Given the description of an element on the screen output the (x, y) to click on. 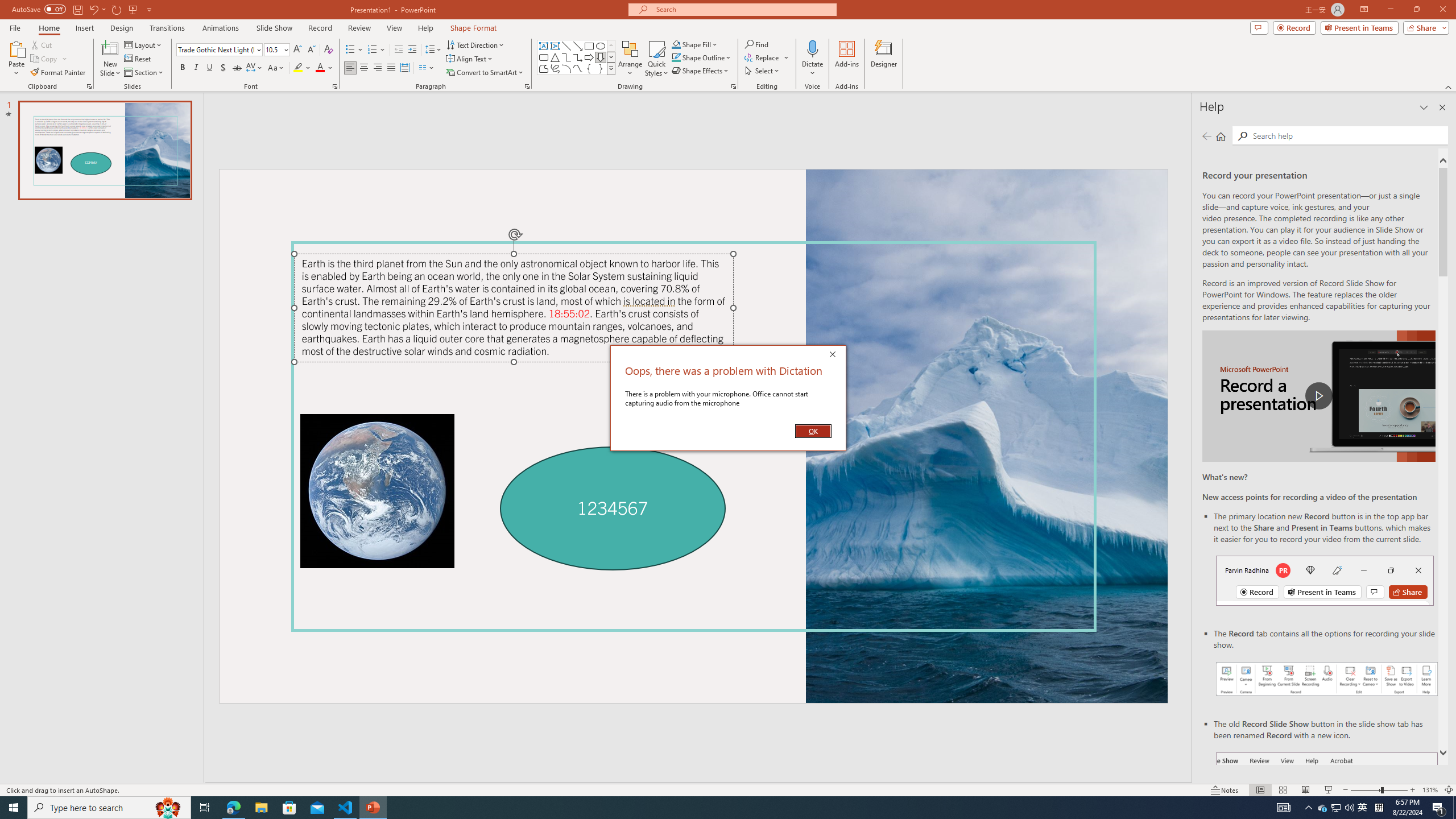
Numbering (376, 49)
Center (363, 67)
Quick Styles (656, 58)
Copy (49, 58)
Font Color Red (320, 67)
Oval (600, 45)
Dictate (812, 58)
Increase Indent (412, 49)
Select (762, 69)
